Given the description of an element on the screen output the (x, y) to click on. 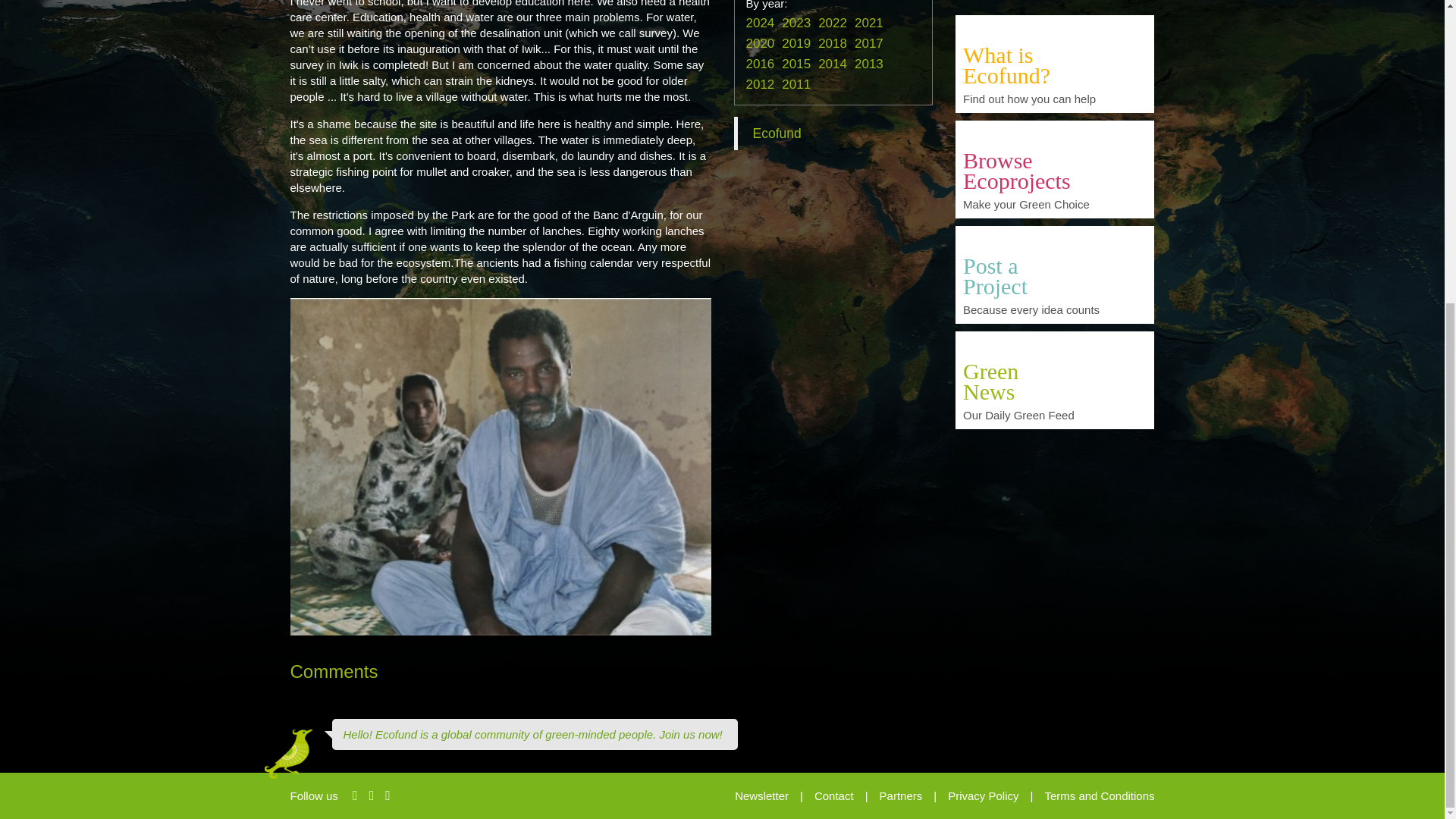
2019 (795, 43)
2014 (832, 63)
2023 (795, 22)
2020 (759, 43)
2015 (795, 63)
2011 (795, 83)
2017 (868, 43)
Ecofund (776, 133)
2024 (759, 22)
2021 (868, 22)
2018 (832, 43)
2016 (759, 63)
2012 (759, 83)
2013 (868, 63)
2022 (832, 22)
